Given the description of an element on the screen output the (x, y) to click on. 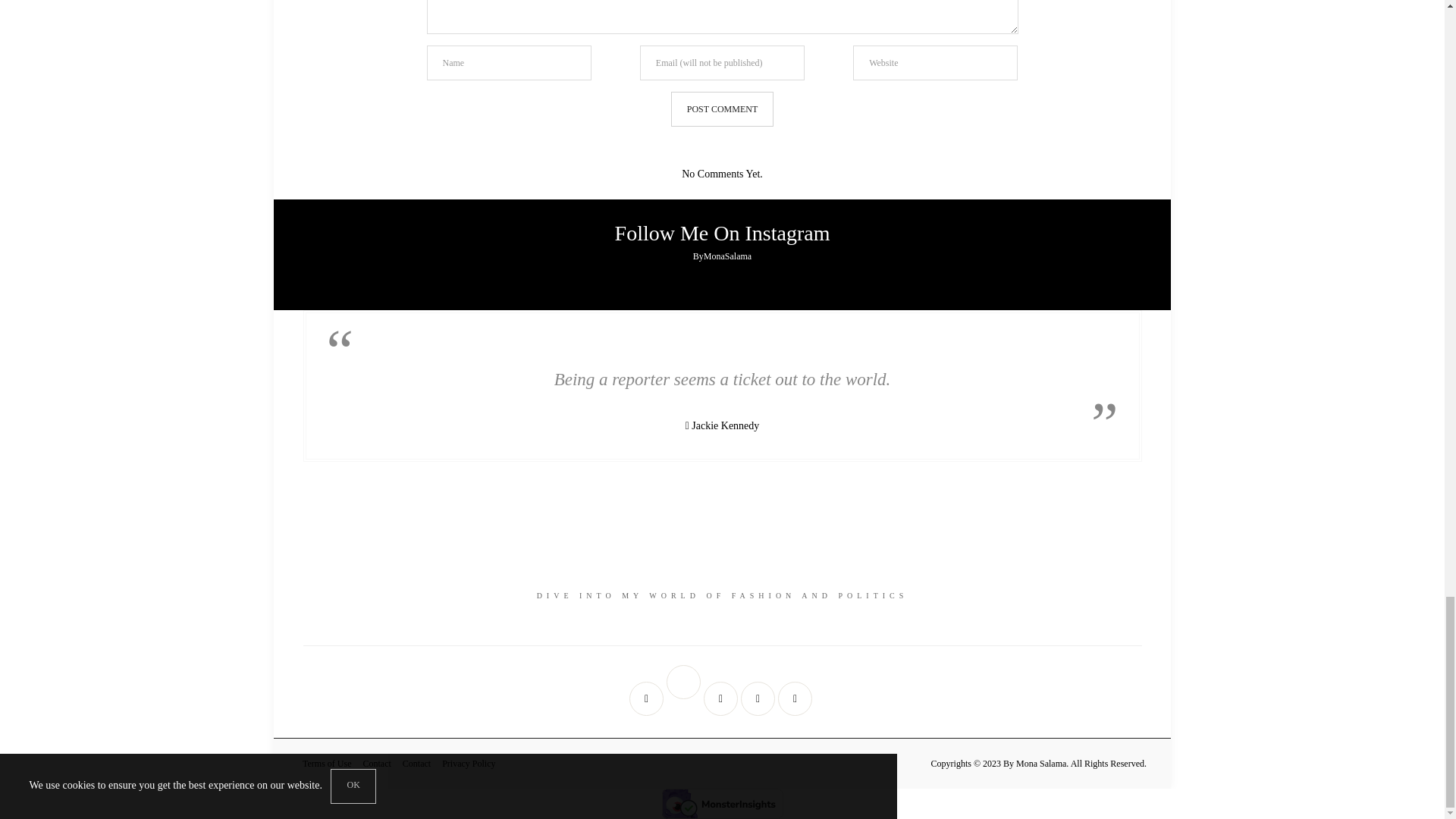
Post comment (722, 108)
